Given the description of an element on the screen output the (x, y) to click on. 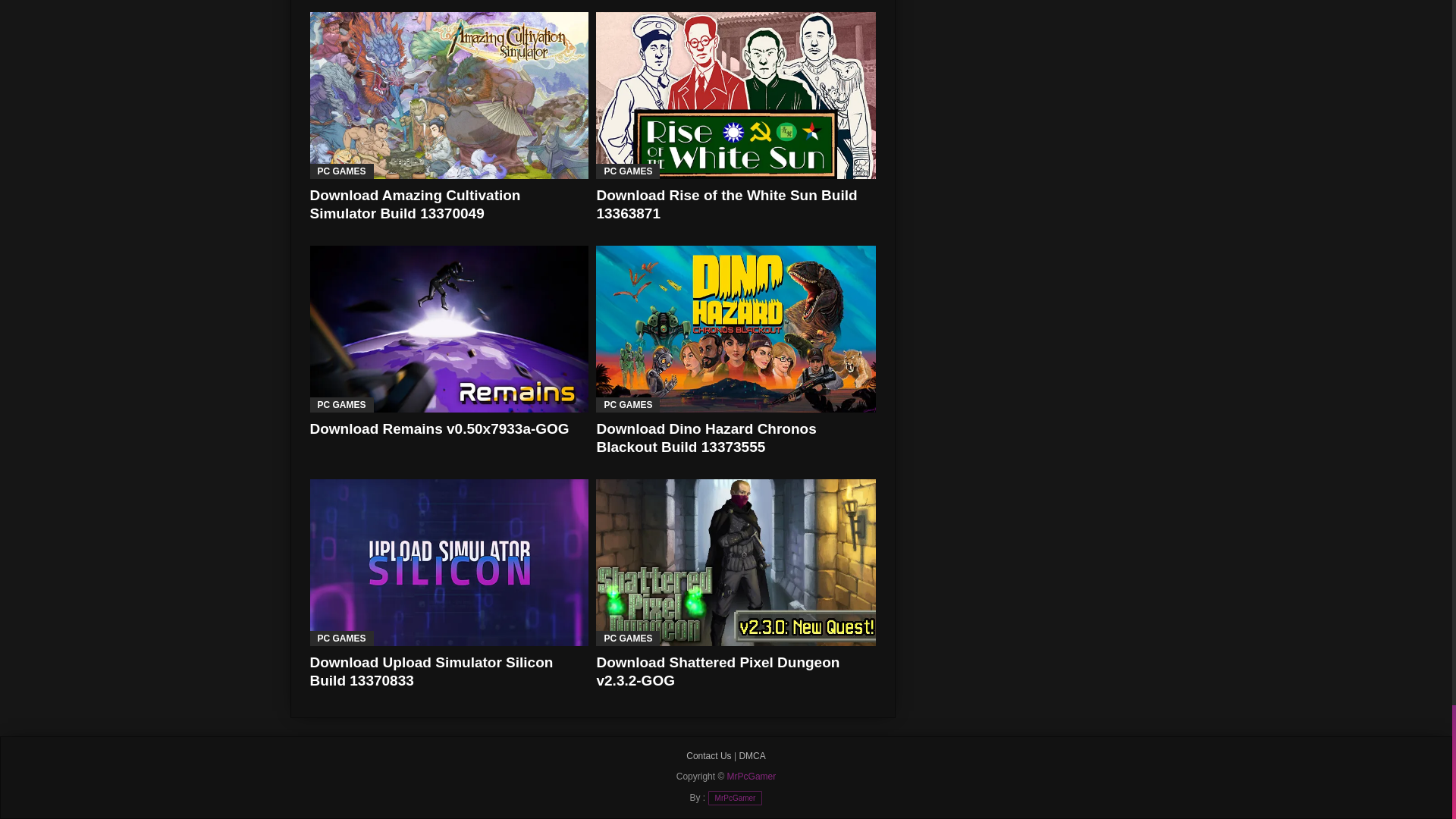
PC Games (340, 171)
Download Amazing Cultivation Simulator Build 13370049 (448, 95)
Download Amazing Cultivation Simulator Build 13370049 (413, 204)
Download Amazing Cultivation Simulator Build 13370049 (413, 204)
PC GAMES (340, 171)
